Given the description of an element on the screen output the (x, y) to click on. 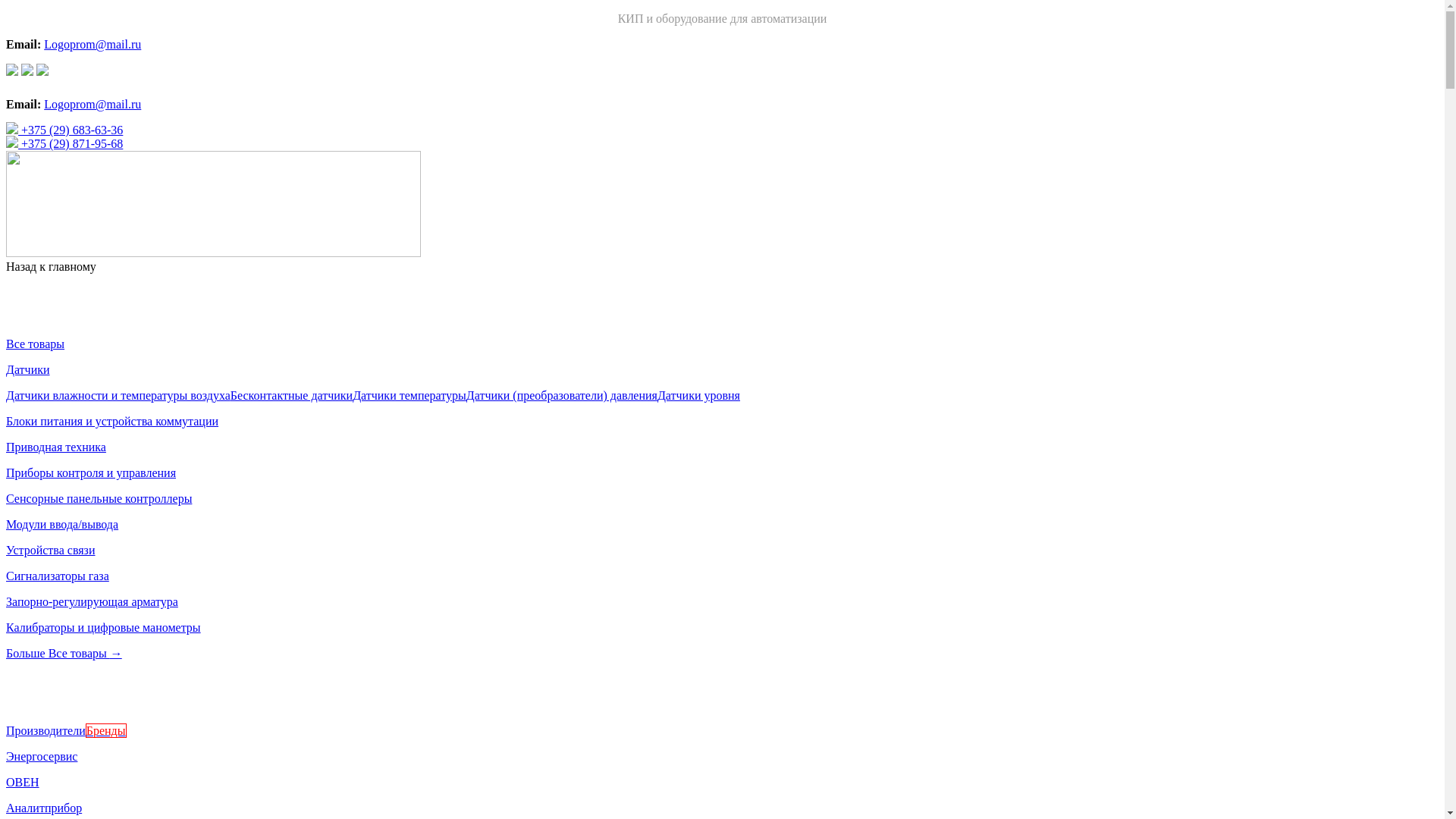
Logoprom@mail.ru Element type: text (92, 103)
Logoprom@mail.ru Element type: text (92, 43)
+375 (29) 871-95-68 Element type: text (64, 143)
+375 (29) 683-63-36 Element type: text (64, 129)
